Given the description of an element on the screen output the (x, y) to click on. 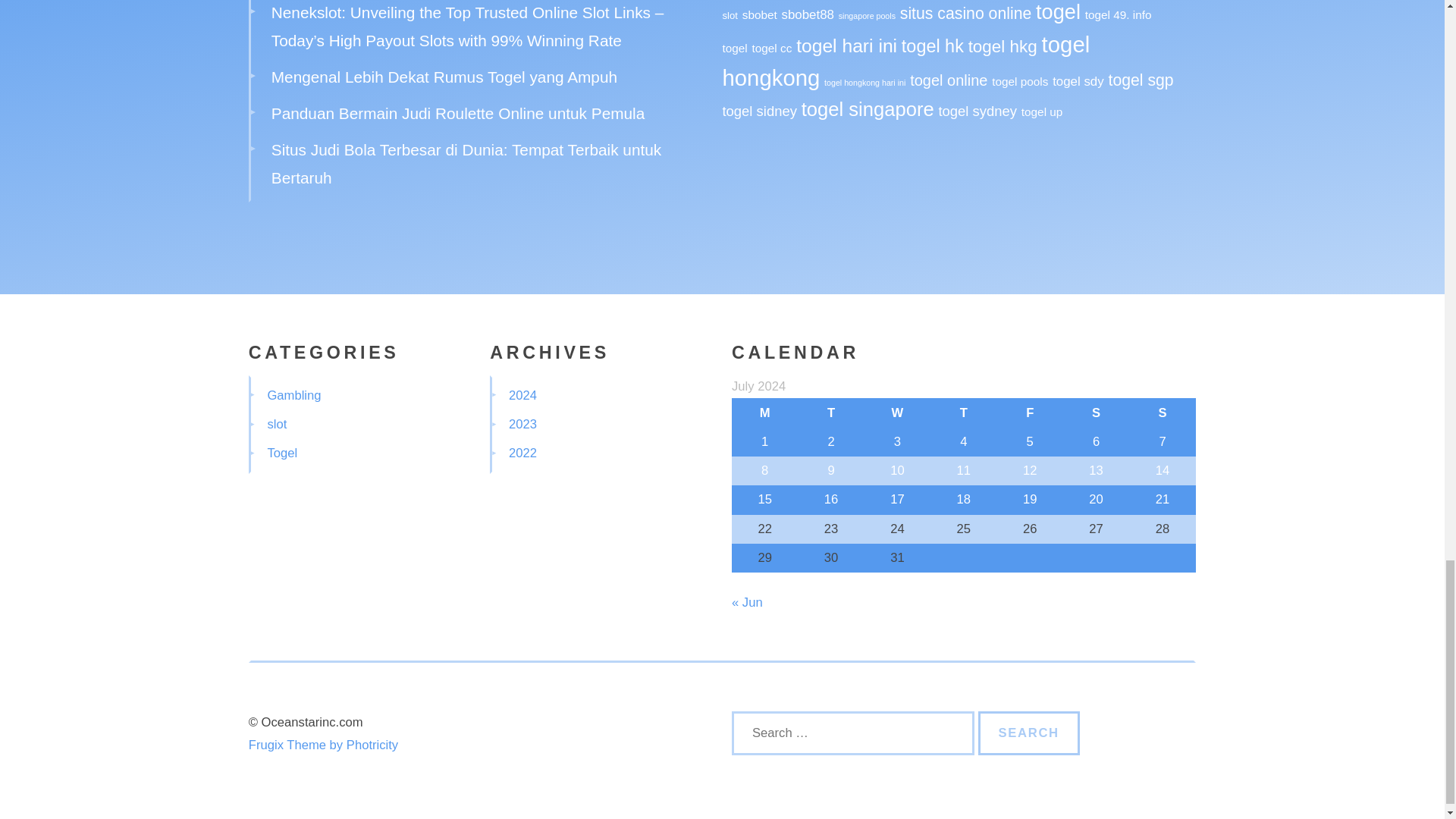
Monday (764, 412)
Search (1029, 733)
sbobet88 (807, 14)
singapore pools (866, 15)
Thursday (962, 412)
Sunday (1162, 412)
Saturday (1095, 412)
Wednesday (897, 412)
Friday (1029, 412)
Tuesday (830, 412)
situs casino online (965, 13)
Panduan Bermain Judi Roulette Online untuk Pemula (457, 113)
Mengenal Lebih Dekat Rumus Togel yang Ampuh (443, 76)
sbobet (759, 14)
